Given the description of an element on the screen output the (x, y) to click on. 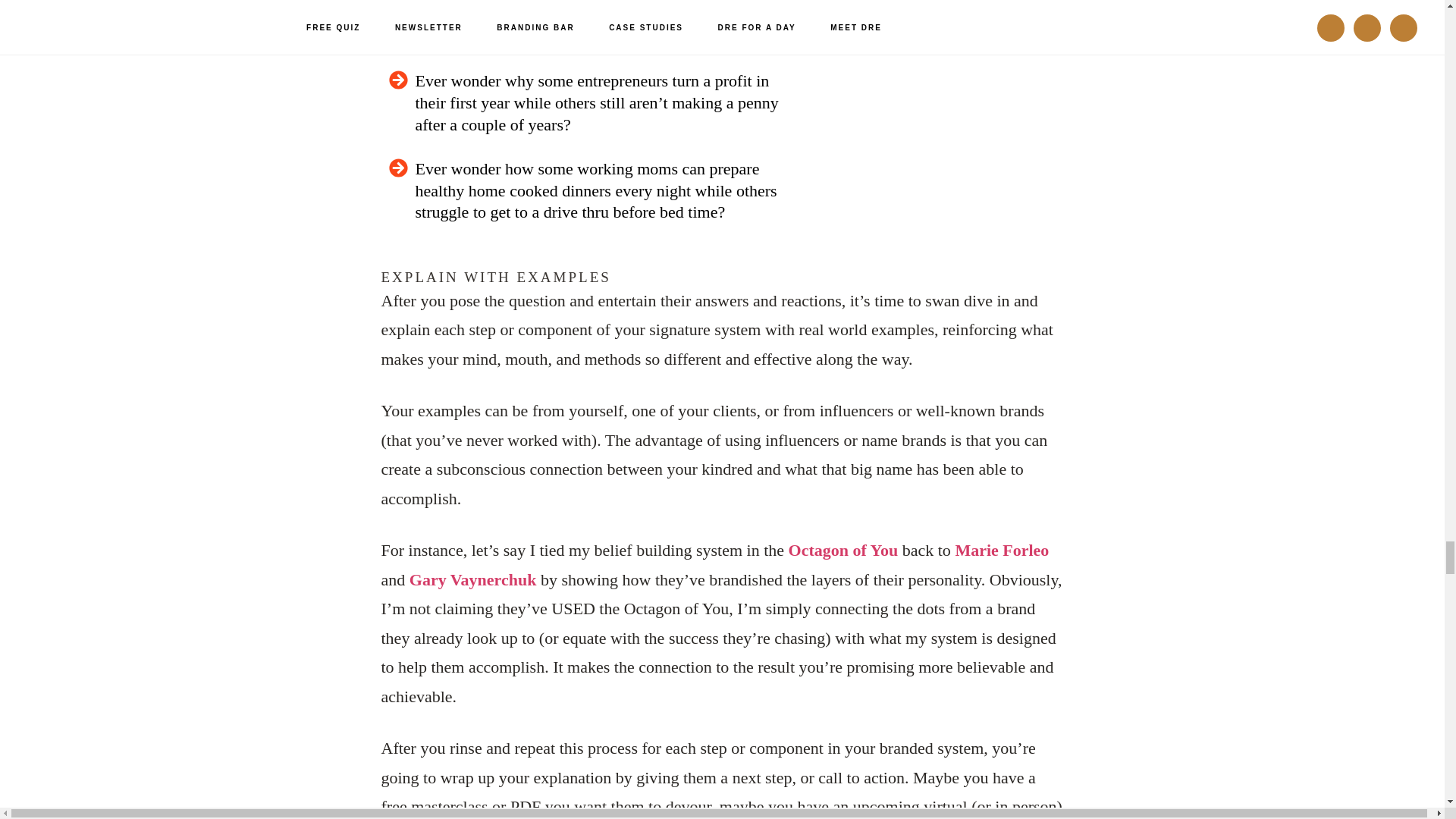
Marie Forleo (1001, 549)
Octagon of You (843, 549)
Gary Vaynerchuk (473, 579)
